Given the description of an element on the screen output the (x, y) to click on. 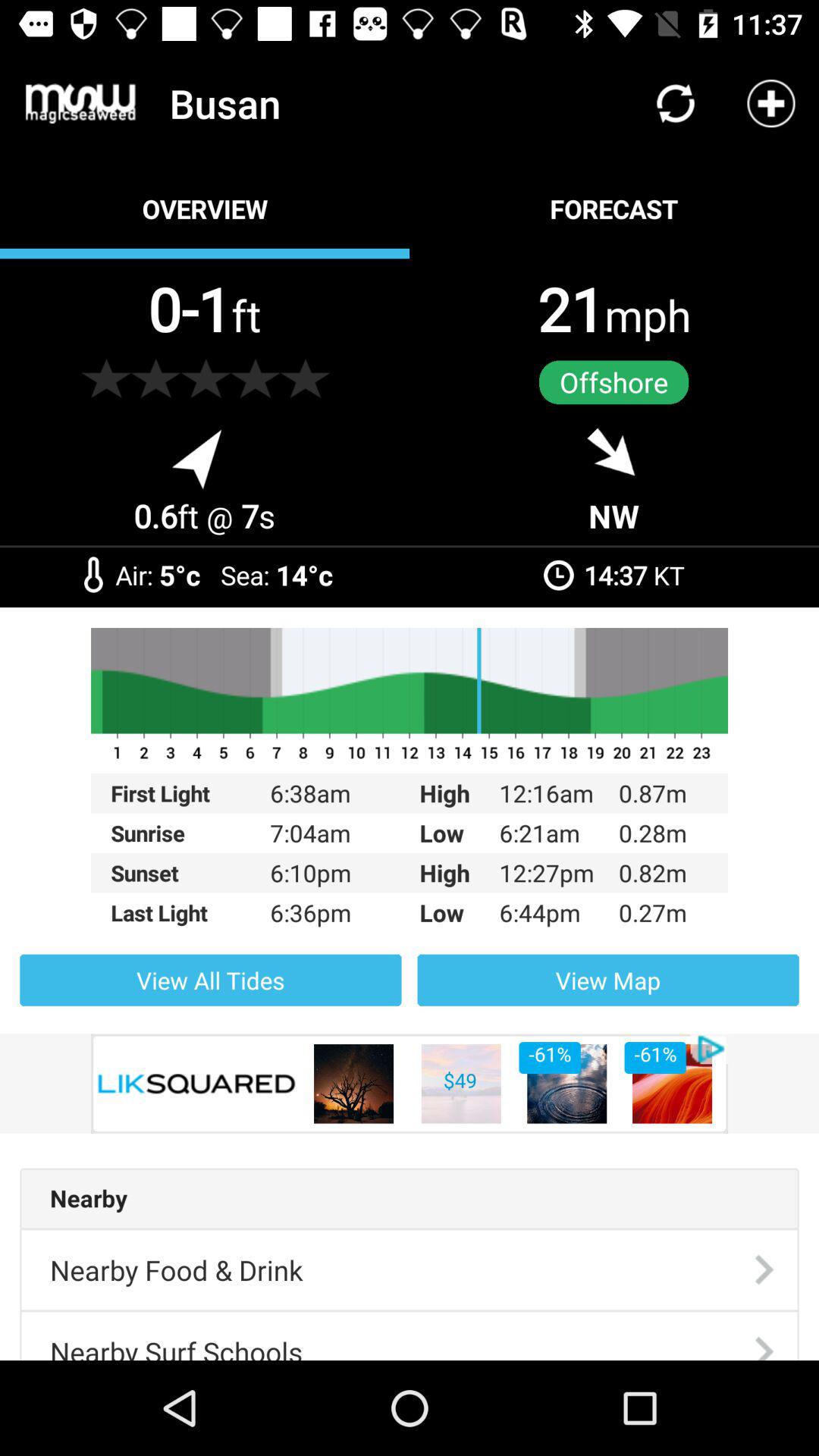
flip until the air:  item (137, 574)
